Given the description of an element on the screen output the (x, y) to click on. 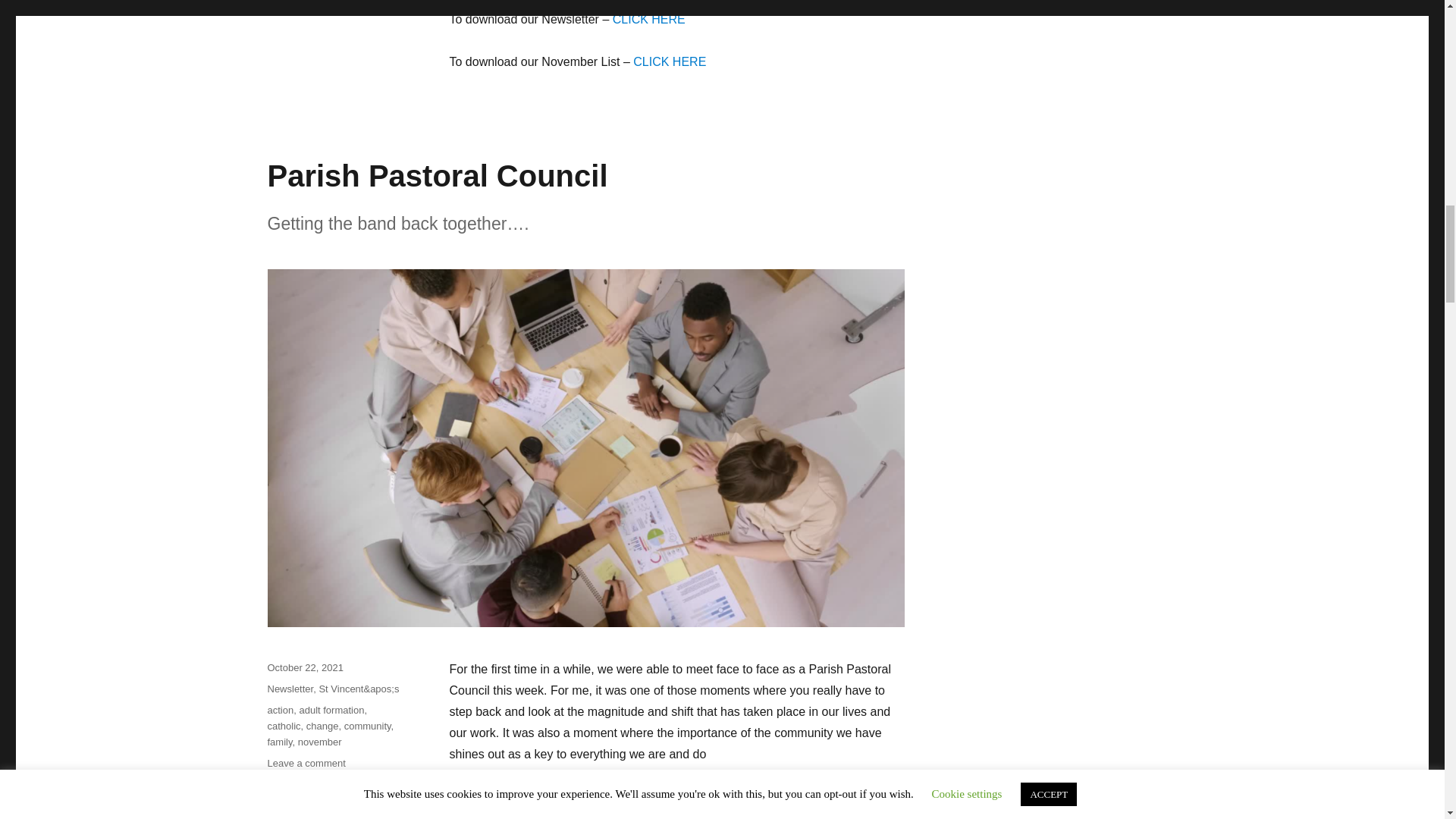
community (367, 726)
change (322, 726)
adult formation (331, 709)
Parish Pastoral Council (436, 175)
action (280, 709)
Newsletter (289, 688)
CLICK HERE (648, 18)
CLICK HERE (669, 60)
catholic (282, 726)
October 22, 2021 (304, 667)
